Given the description of an element on the screen output the (x, y) to click on. 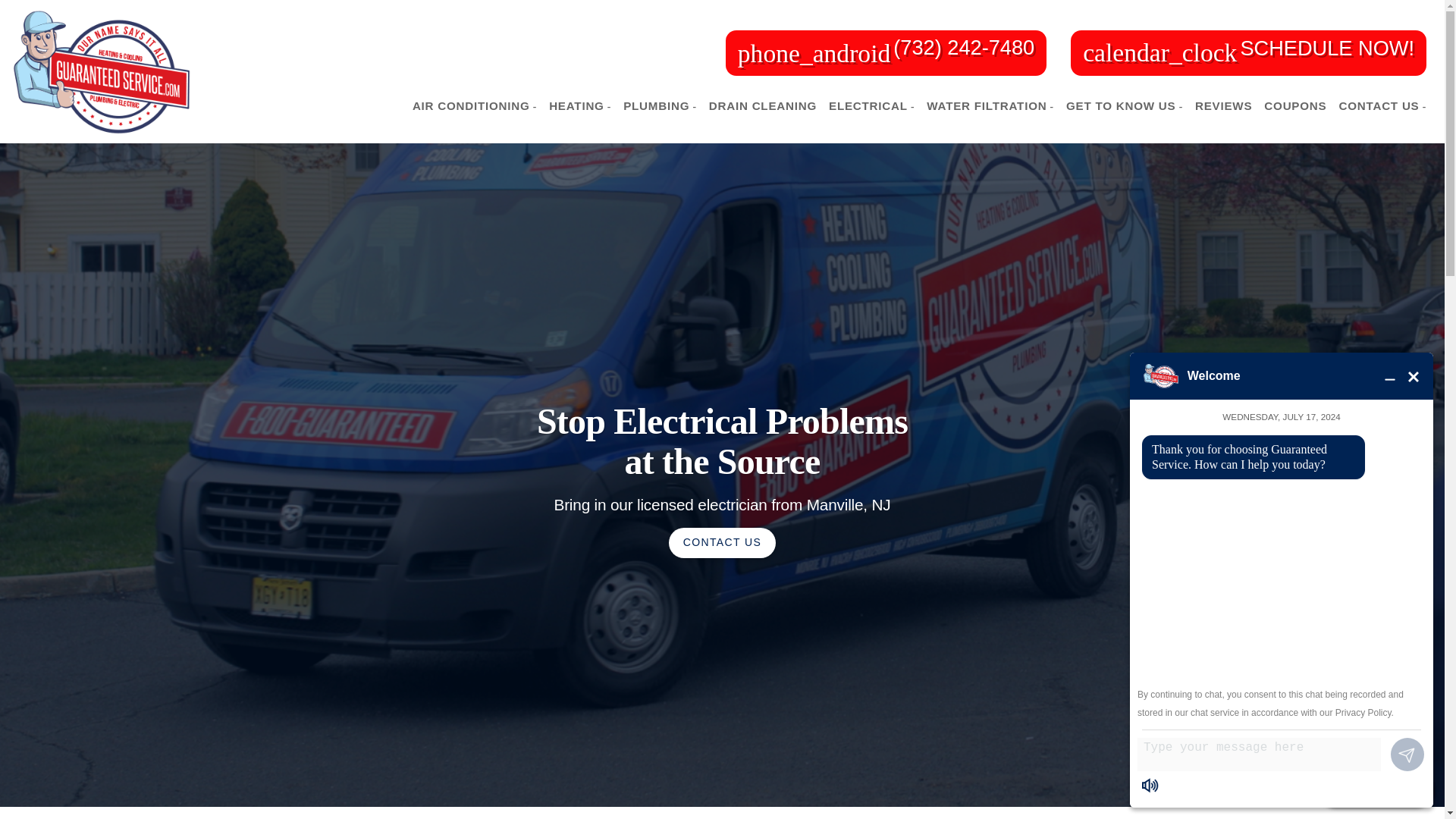
Guaranteed Service (100, 72)
ELECTRICAL (871, 105)
WATER FILTRATION (989, 105)
HEATING (580, 105)
DRAIN CLEANING (762, 105)
PLUMBING (660, 105)
AIR CONDITIONING (474, 105)
